Given the description of an element on the screen output the (x, y) to click on. 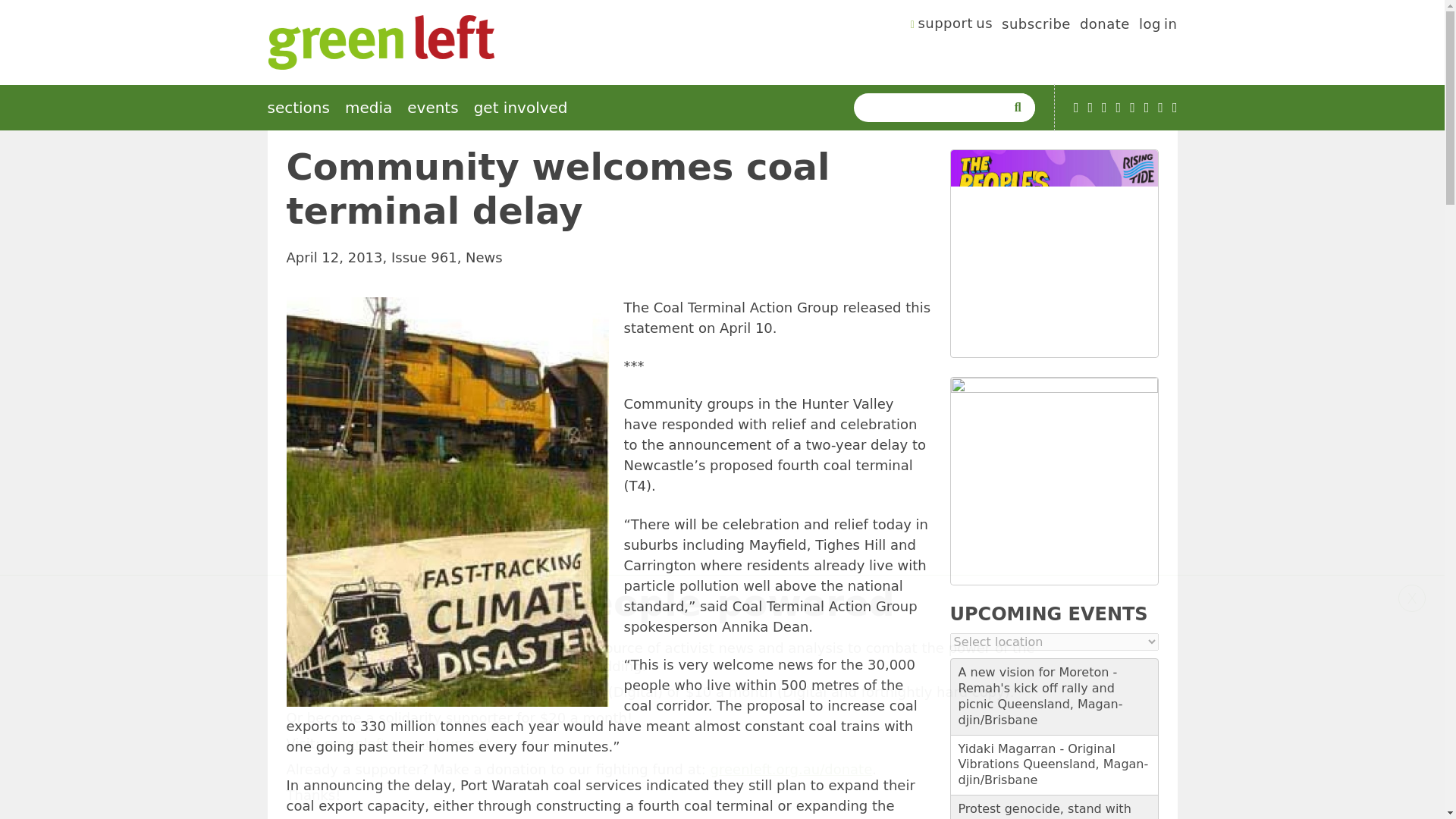
Enter the terms you wish to search for. (932, 107)
log in (1157, 26)
donate (1104, 26)
subscribe (1035, 26)
support us (951, 26)
events (432, 107)
